Given the description of an element on the screen output the (x, y) to click on. 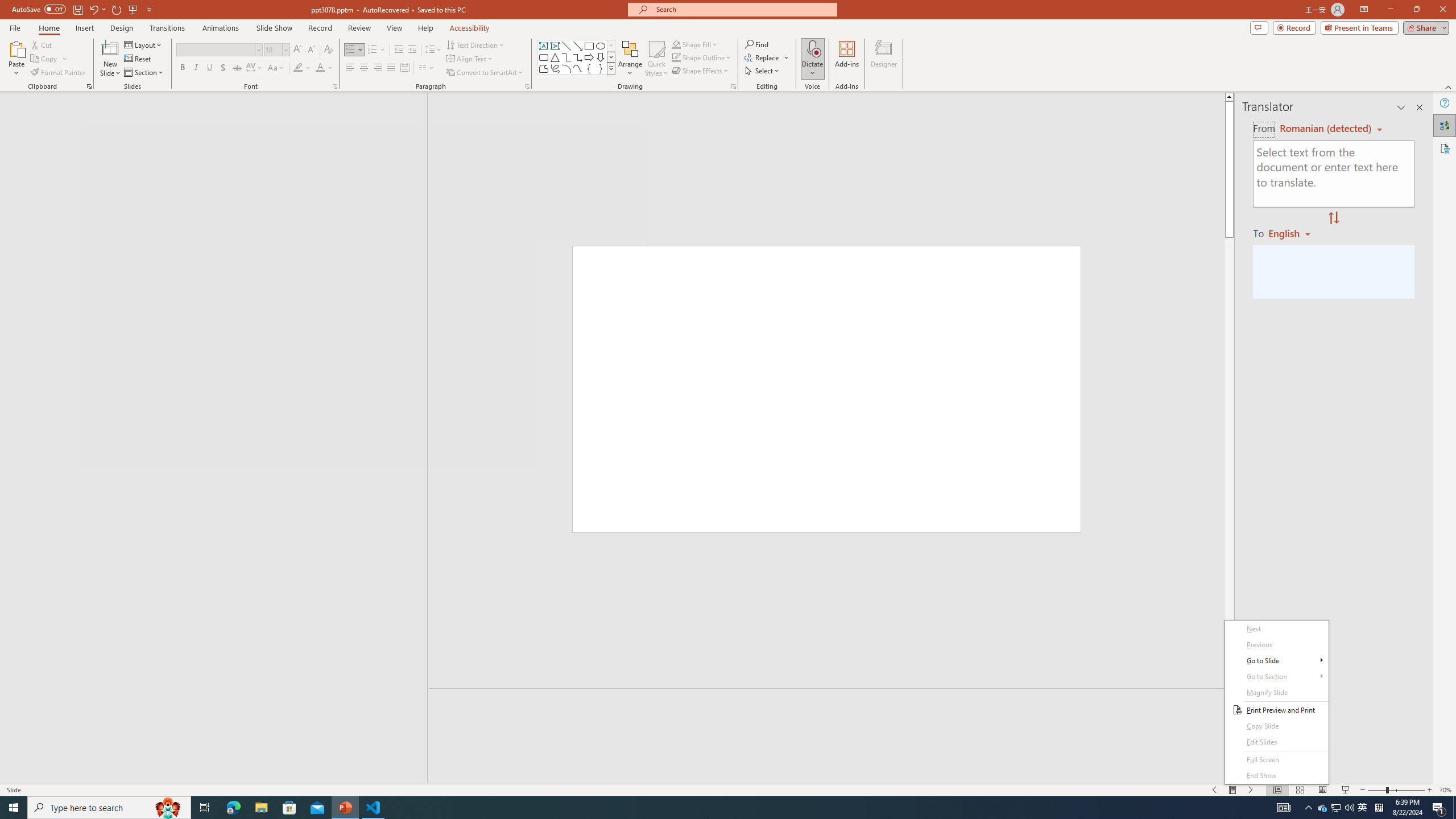
Microsoft Edge (21, 194)
End Show (1276, 775)
Acrobat Reader DC (21, 82)
New Text Document (2) (1258, 250)
Go to Slide (1276, 660)
Google Chrome (21, 138)
